Given the description of an element on the screen output the (x, y) to click on. 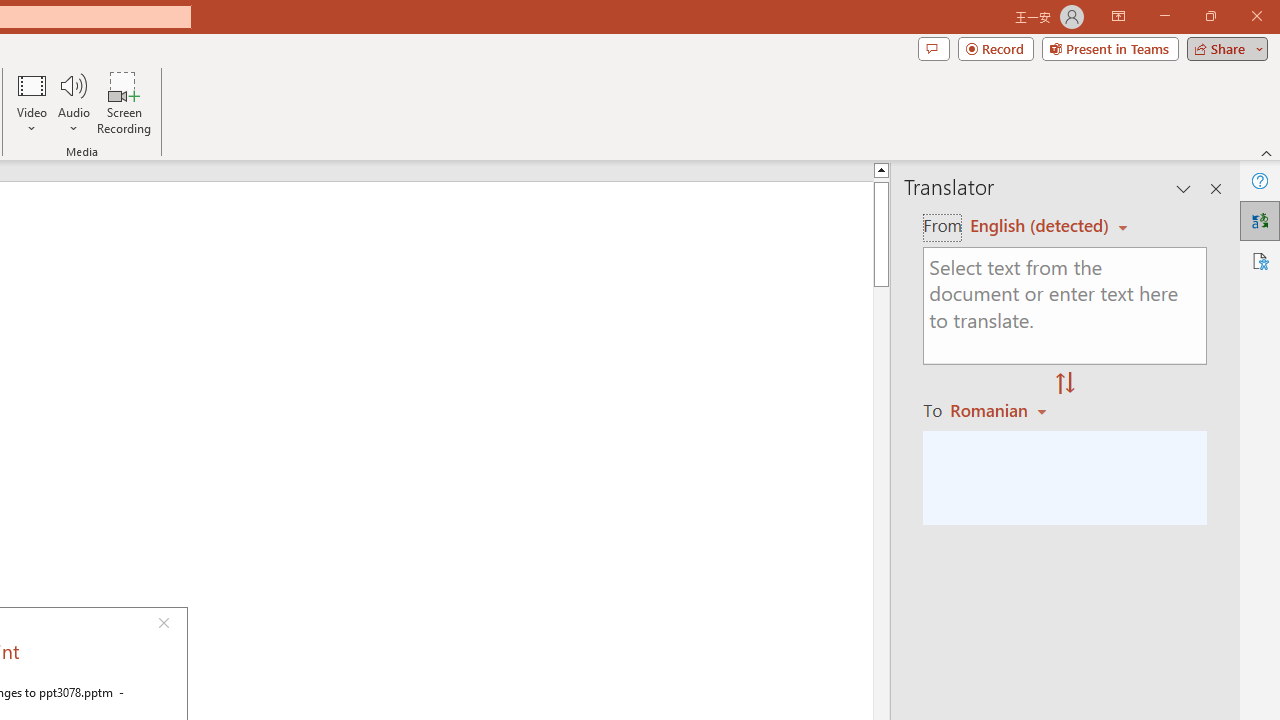
Swap "from" and "to" languages. (1065, 383)
